Given the description of an element on the screen output the (x, y) to click on. 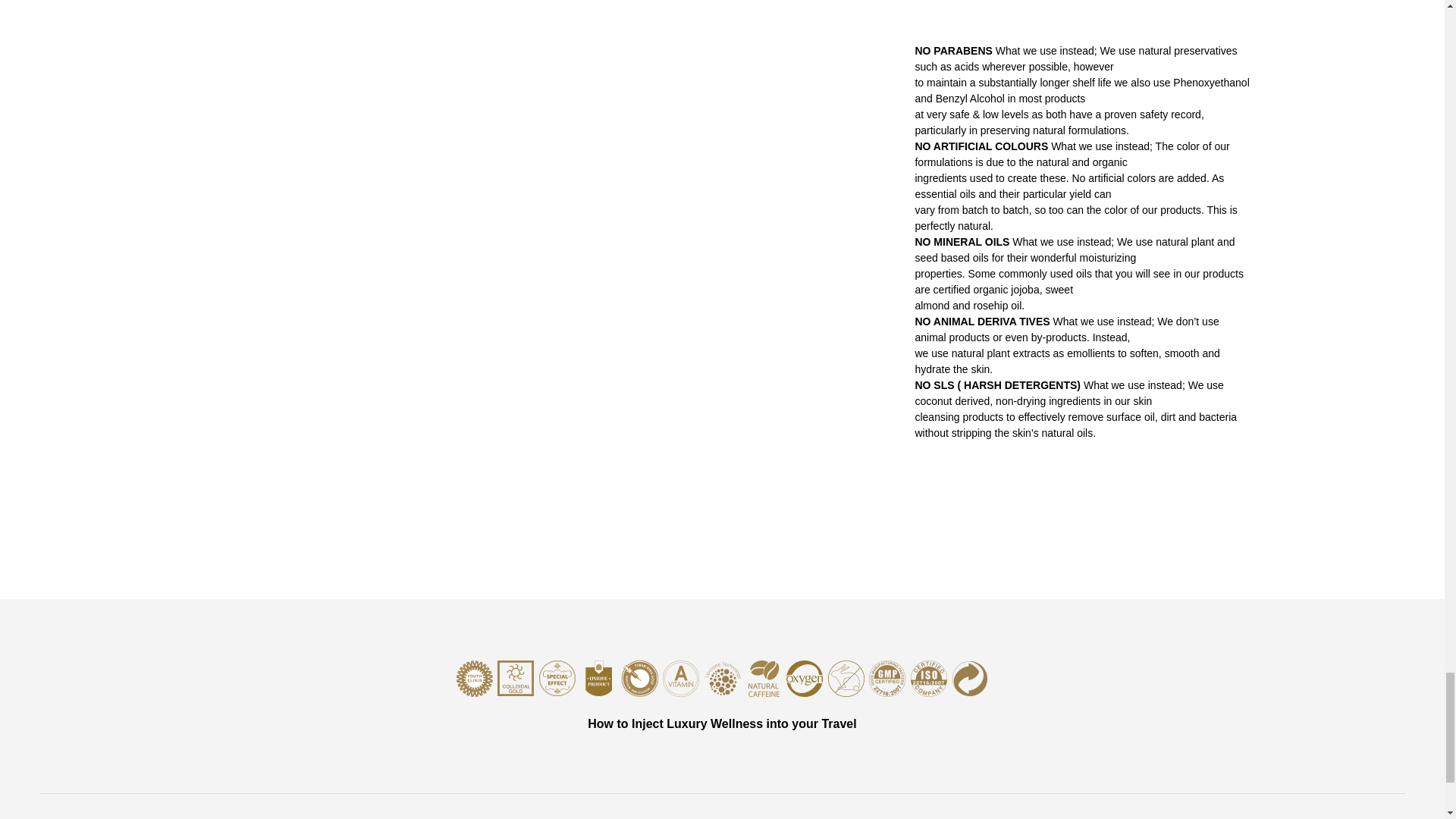
How to Inject Luxury Wellness into your Travel (721, 714)
